Given the description of an element on the screen output the (x, y) to click on. 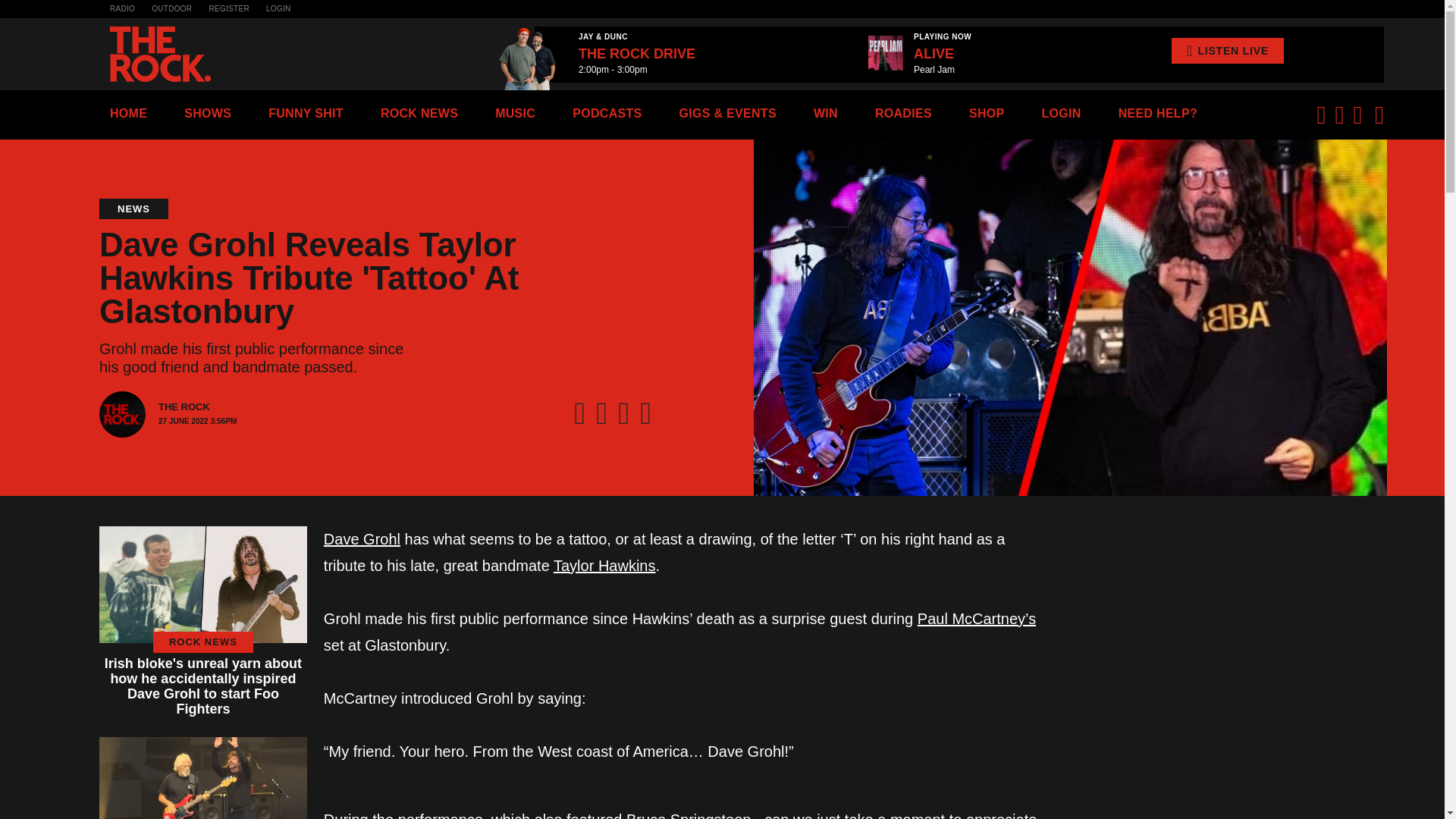
ROCK NEWS (419, 113)
ROADIES (903, 113)
LOGIN (278, 8)
SHOP (986, 113)
NEED HELP? (1157, 113)
HOME (128, 113)
MUSIC (515, 113)
WIN (825, 113)
LOGIN (1060, 113)
RADIO (122, 8)
